Given the description of an element on the screen output the (x, y) to click on. 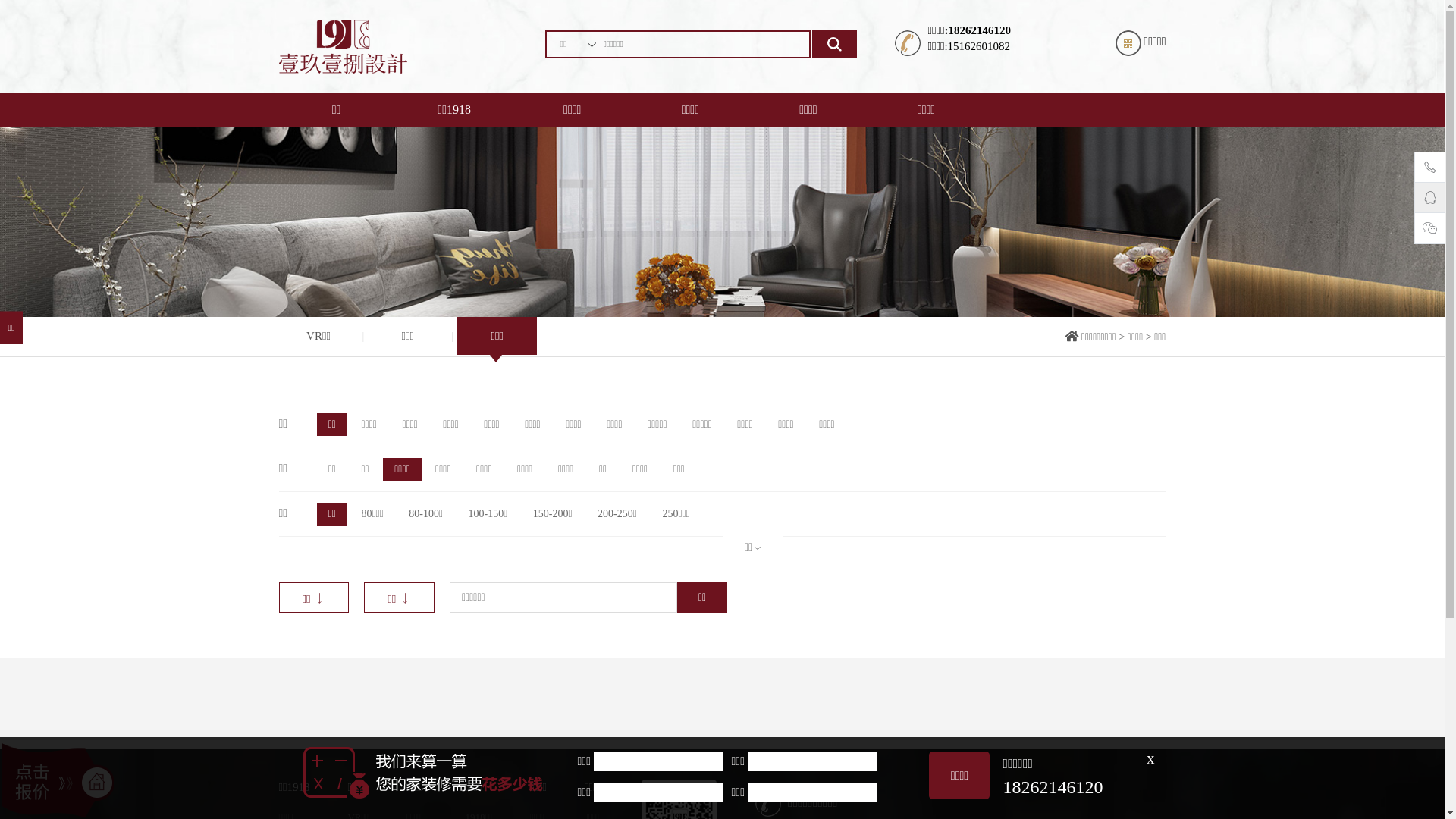
15162601082 Element type: text (1429, 169)
logo Element type: hover (343, 45)
191861717 Element type: text (1429, 199)
pic Element type: hover (722, 221)
